Given the description of an element on the screen output the (x, y) to click on. 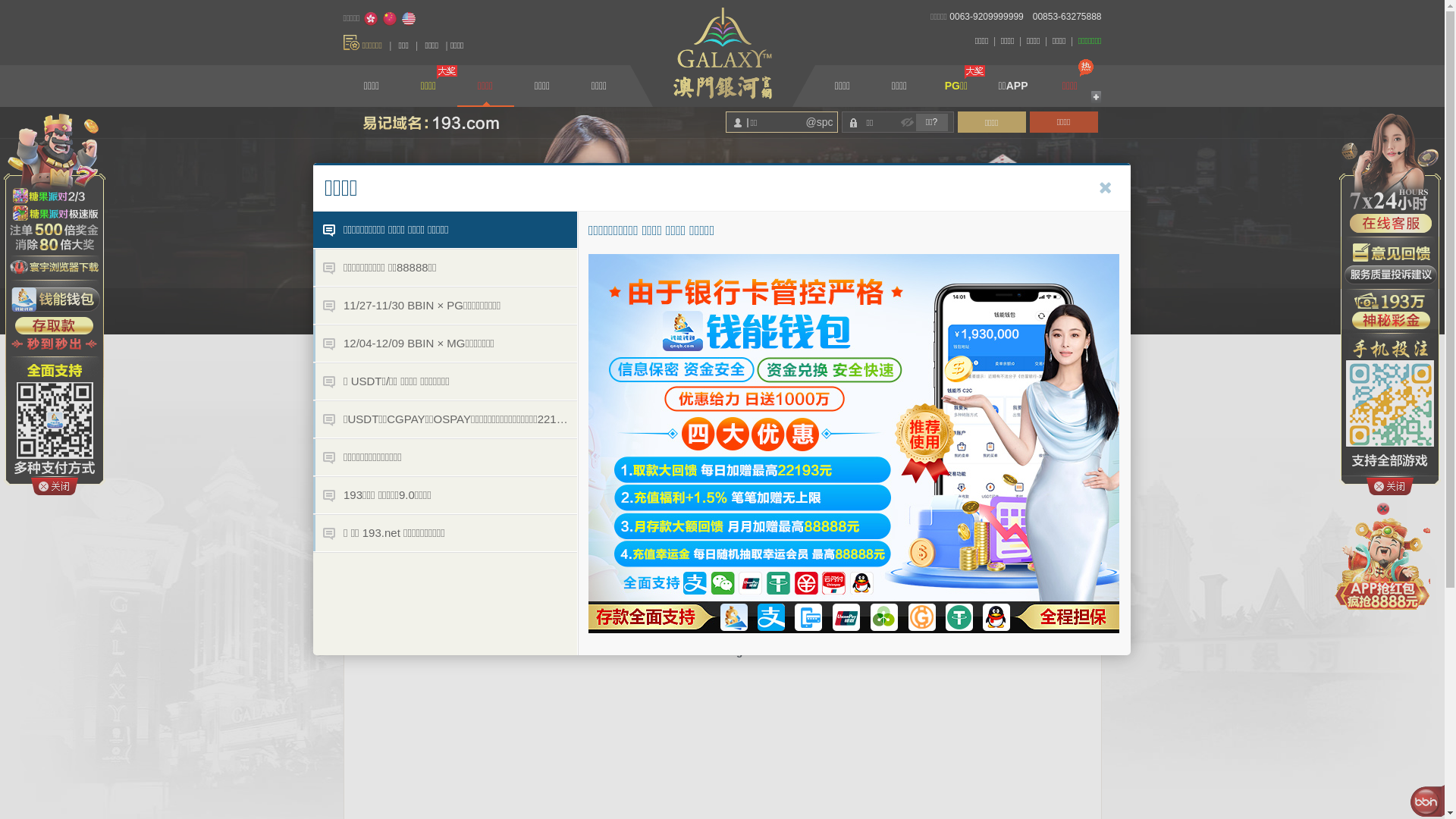
English Element type: hover (408, 18)
